Given the description of an element on the screen output the (x, y) to click on. 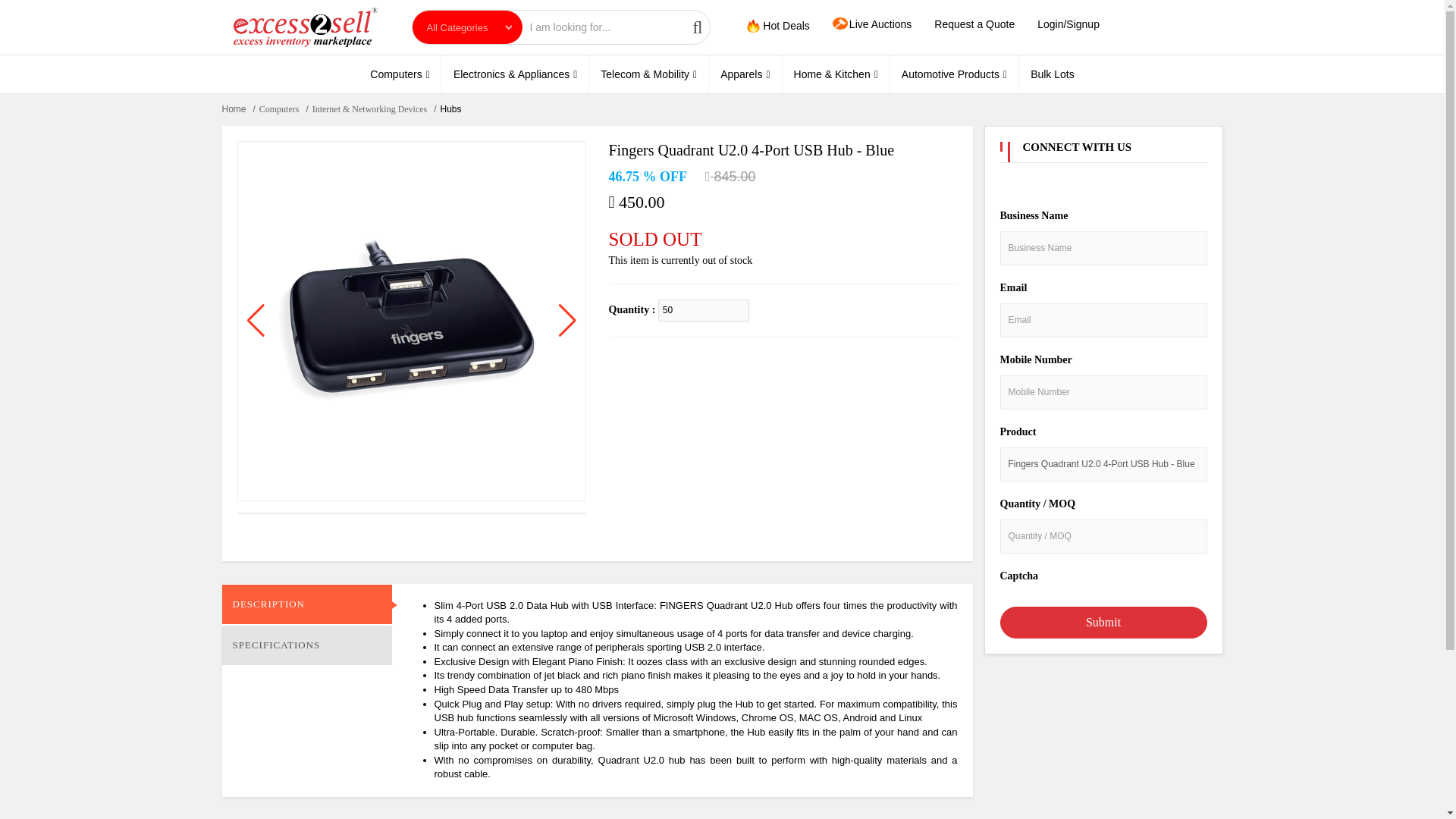
Live Auctions (872, 24)
Computers (399, 74)
50 (703, 310)
Apparels (743, 74)
Request a Quote (974, 24)
Hot Deals (777, 26)
Fingers Quadrant U2.0 4-Port USB Hub - Blue (1102, 464)
